Given the description of an element on the screen output the (x, y) to click on. 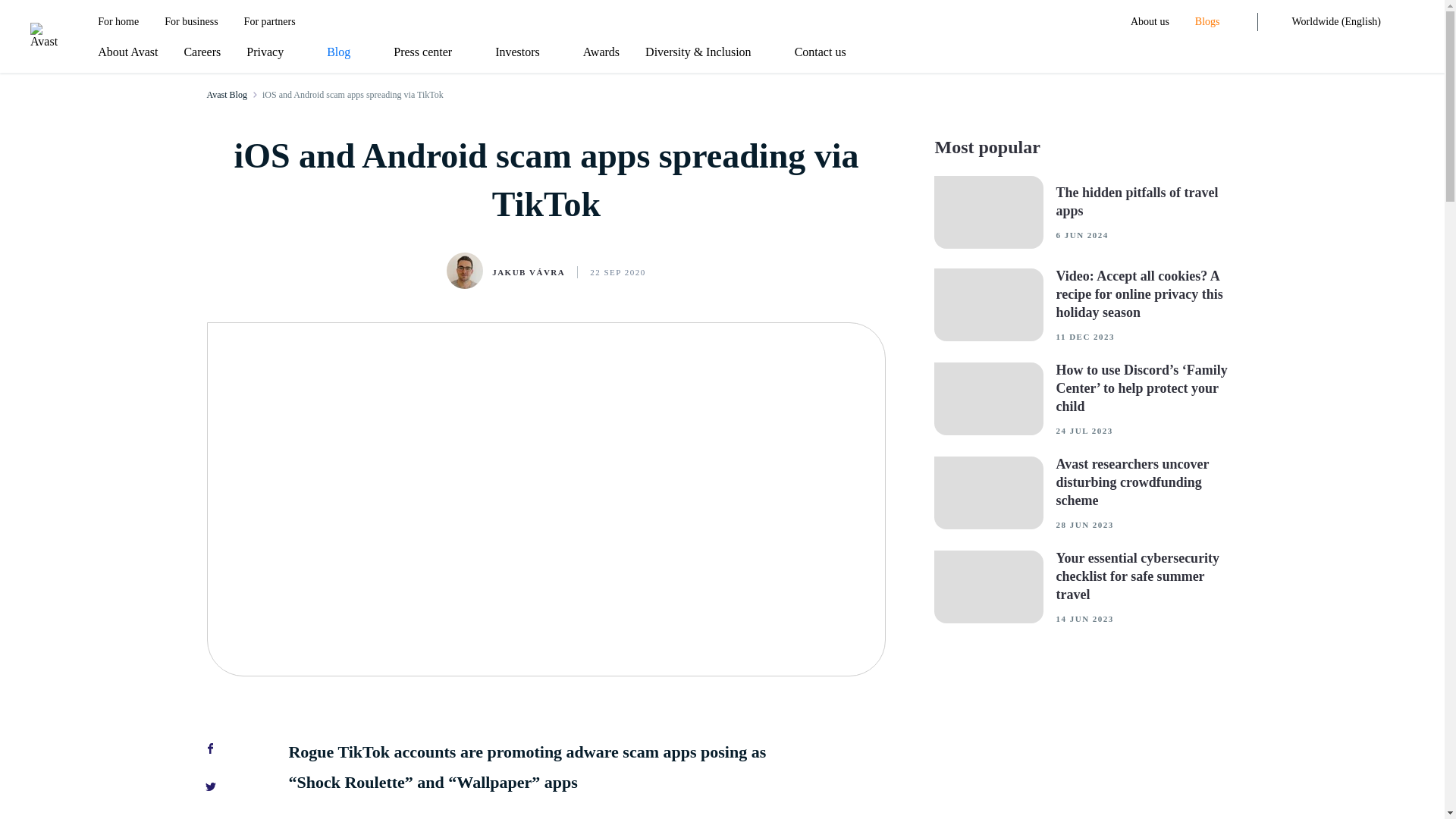
For home (117, 22)
For partners (269, 22)
About us (1150, 22)
Home (44, 35)
For business (190, 22)
